Given the description of an element on the screen output the (x, y) to click on. 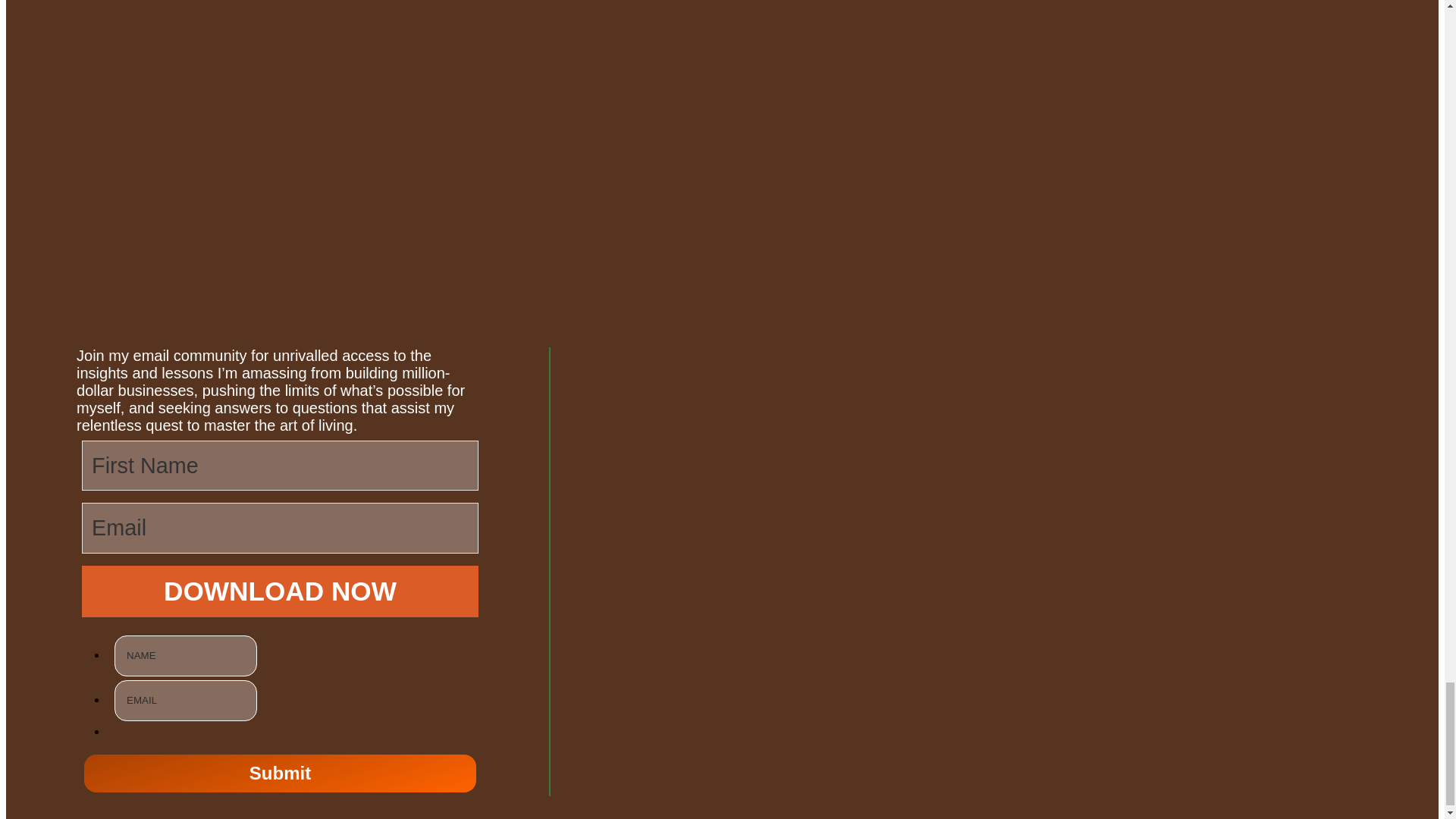
DOWNLOAD NOW (280, 591)
Submit (280, 773)
Submit (280, 773)
